Given the description of an element on the screen output the (x, y) to click on. 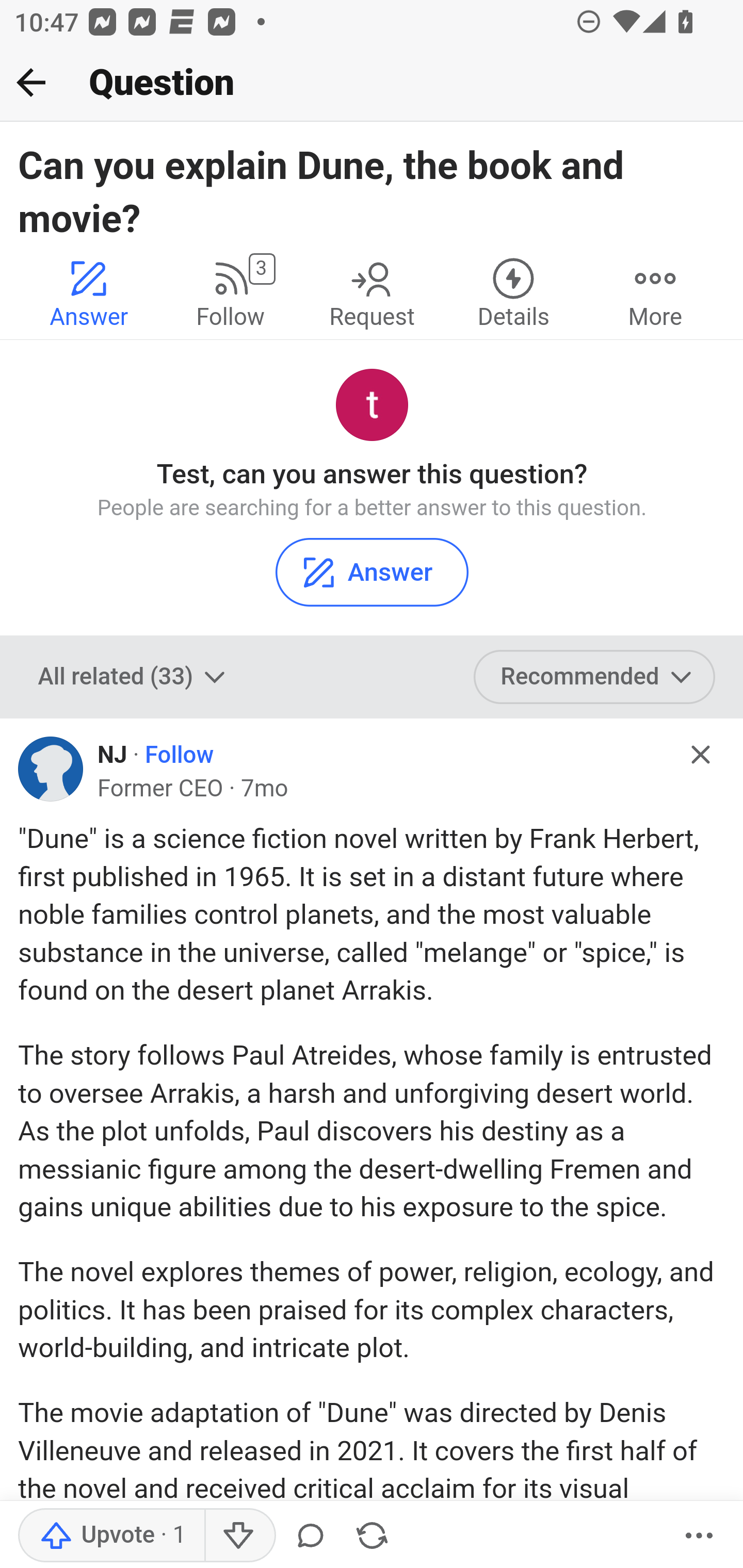
Back (30, 82)
Answer (88, 292)
3 Follow (230, 292)
Request (371, 292)
Details (513, 292)
More (655, 292)
Answer (371, 571)
All related (33) (133, 676)
Recommended (594, 676)
Hide (700, 754)
Profile photo for NJ (50, 768)
NJ (112, 754)
Follow (179, 754)
Upvote (111, 1535)
Downvote (238, 1535)
Comment (310, 1535)
Share (372, 1535)
More (699, 1535)
